Given the description of an element on the screen output the (x, y) to click on. 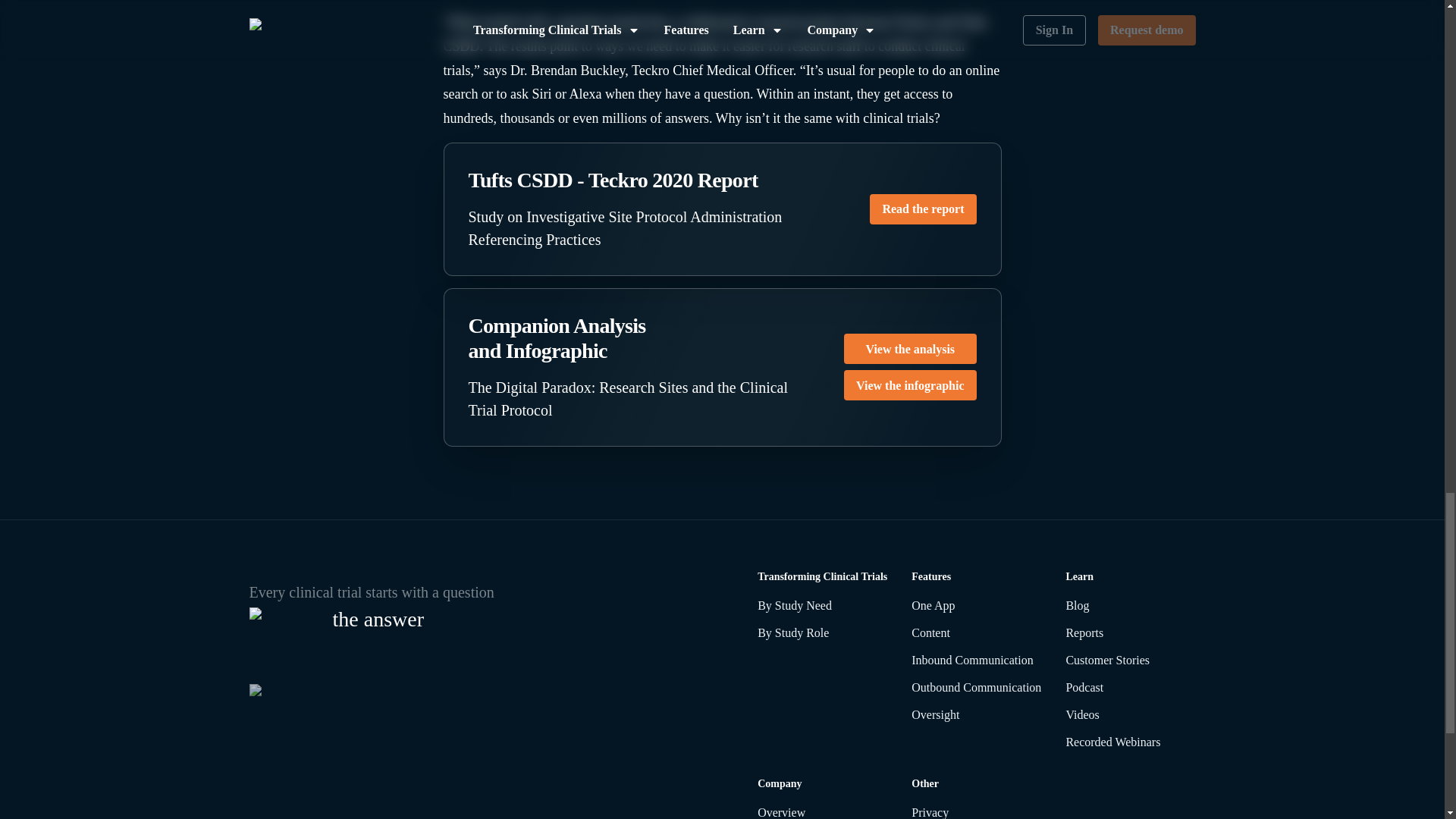
Blog (1130, 606)
Reports (1130, 633)
View the analysis (910, 348)
Podcast (1130, 687)
By Study Need (821, 606)
Recorded Webinars (1130, 742)
Customer Stories (1130, 660)
Inbound Communication (976, 660)
View the infographic (910, 385)
One App (976, 606)
Overview (821, 811)
Outbound Communication (976, 687)
By Study Role (821, 633)
Videos (1130, 714)
Oversight (976, 714)
